Given the description of an element on the screen output the (x, y) to click on. 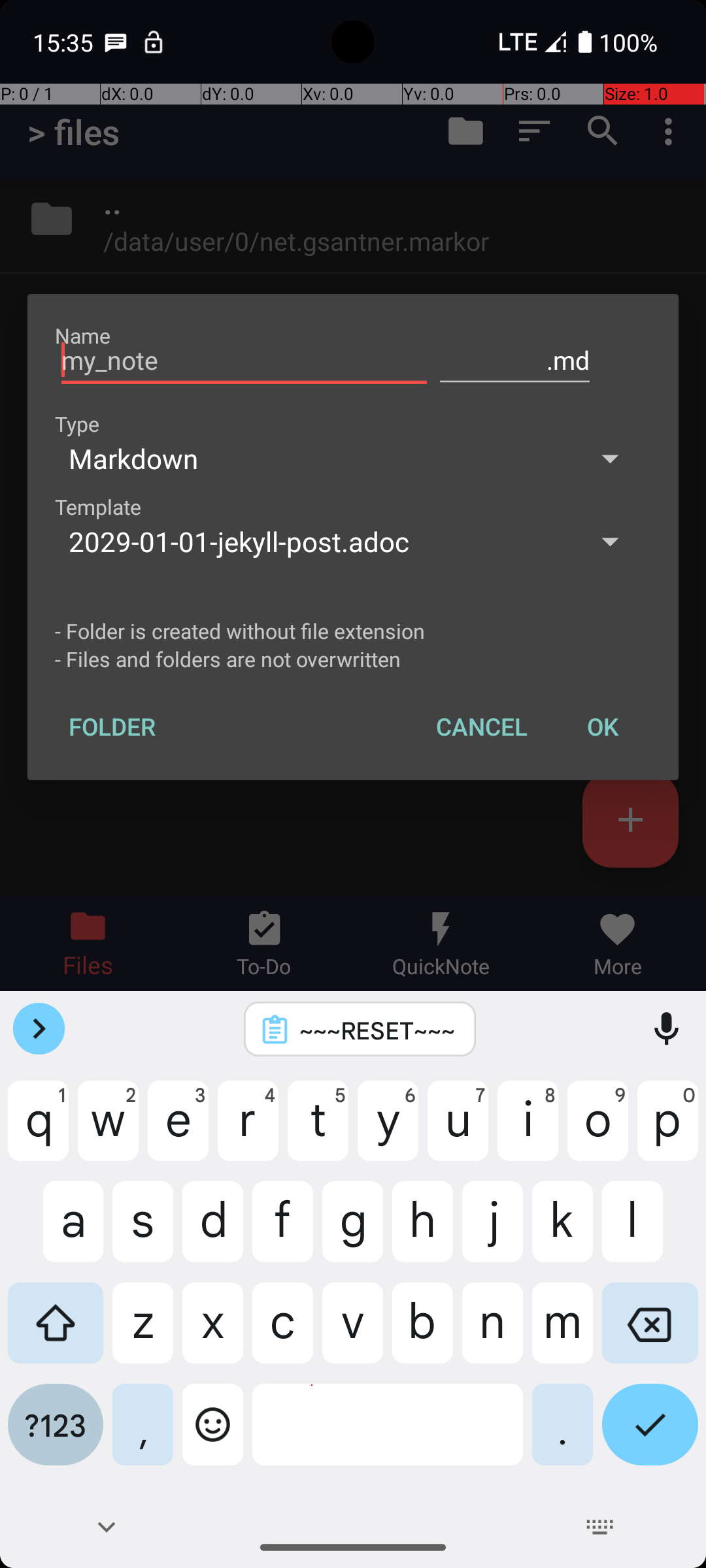
2029-01-01-jekyll-post.adoc Element type: android.widget.TextView (311, 540)
